Given the description of an element on the screen output the (x, y) to click on. 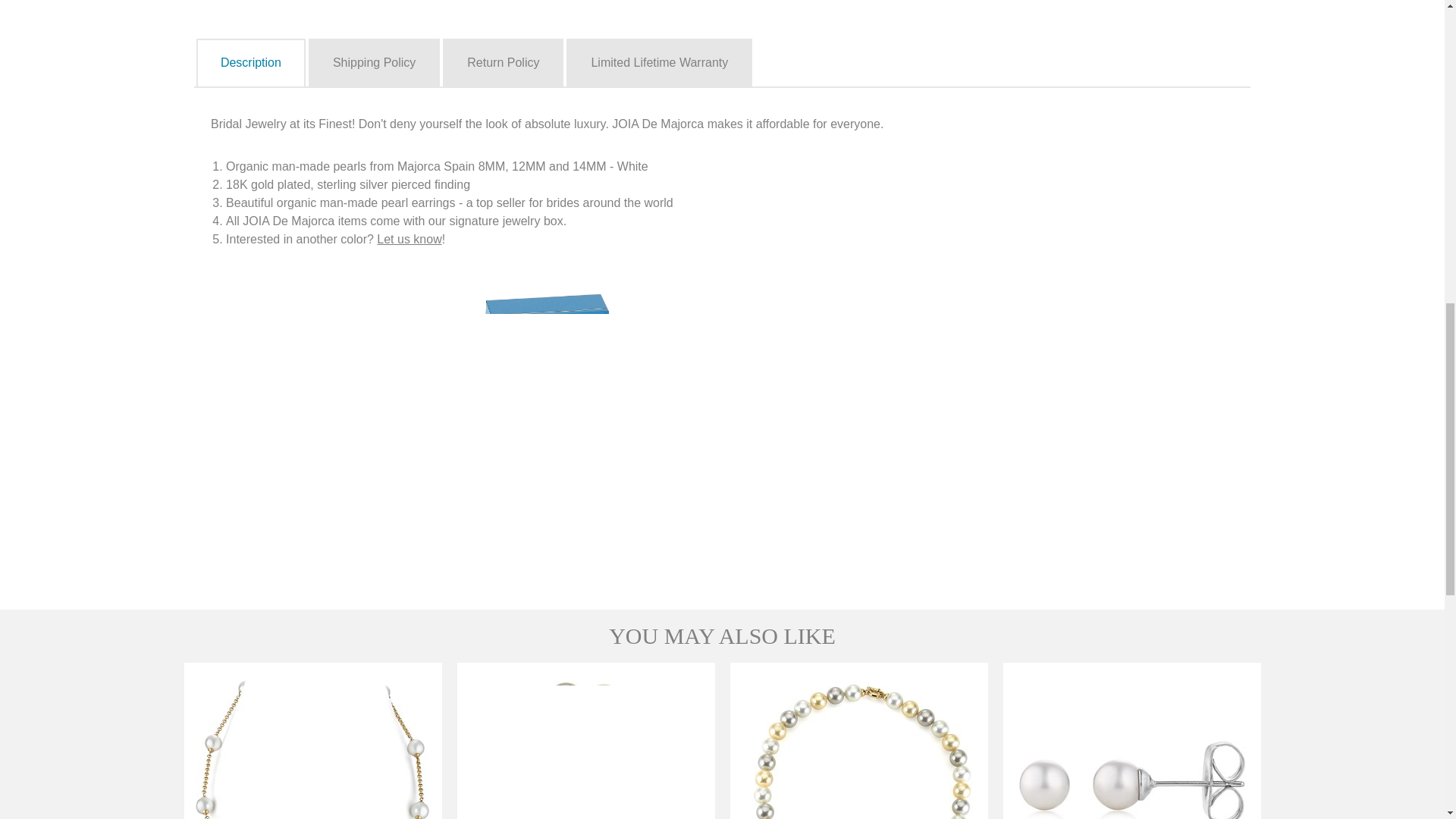
Shipping Policy (374, 63)
Limited Lifetime Warranty (659, 63)
Description (251, 63)
Let us know (409, 238)
Return Policy (503, 63)
